Given the description of an element on the screen output the (x, y) to click on. 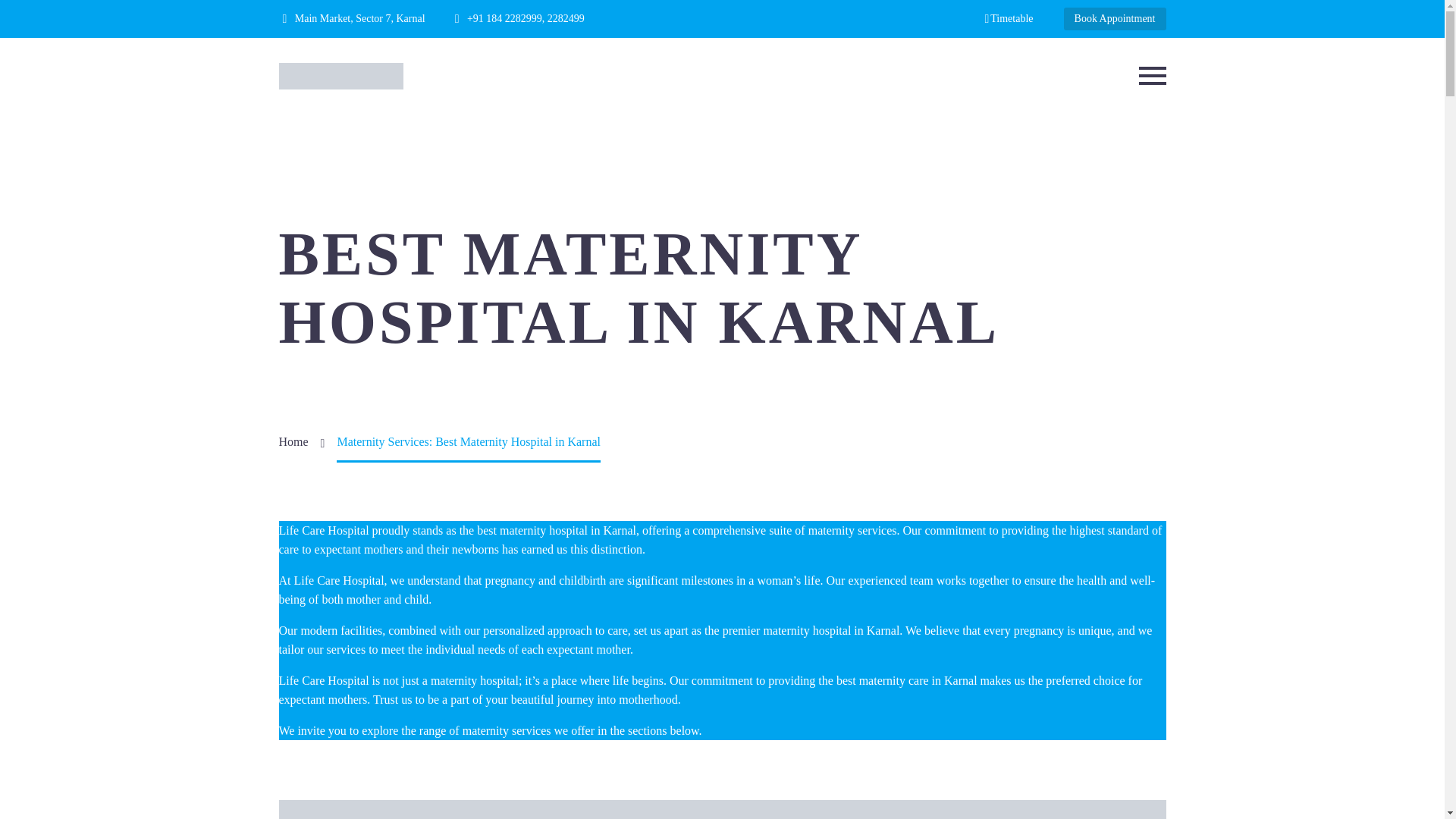
Primary Menu (1152, 75)
Book Appointment (1115, 18)
Home (293, 440)
Maternity Services: Best Maternity Hospital In Karnal 6 (722, 809)
Timetable (1008, 18)
